Given the description of an element on the screen output the (x, y) to click on. 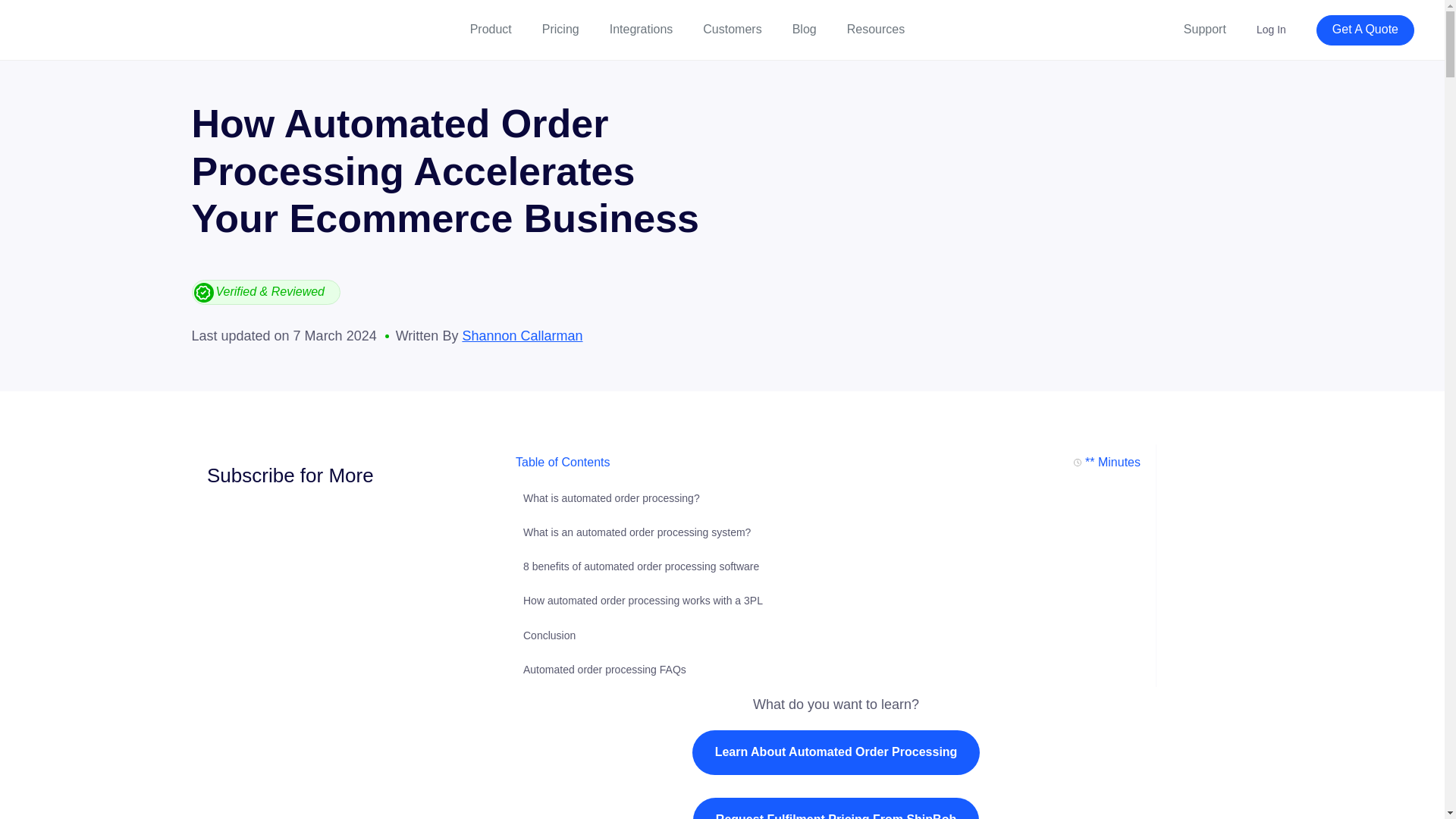
Pricing (560, 29)
Blog (804, 29)
Automated order processing FAQs (603, 669)
Conclusion (548, 635)
Request Fulfilment Pricing From ShipBob (835, 808)
8 benefits of automated order processing software (640, 566)
Posts by Shannon Callarman (521, 335)
Product (491, 29)
What is an automated order processing system? (636, 532)
Integrations (641, 29)
